Given the description of an element on the screen output the (x, y) to click on. 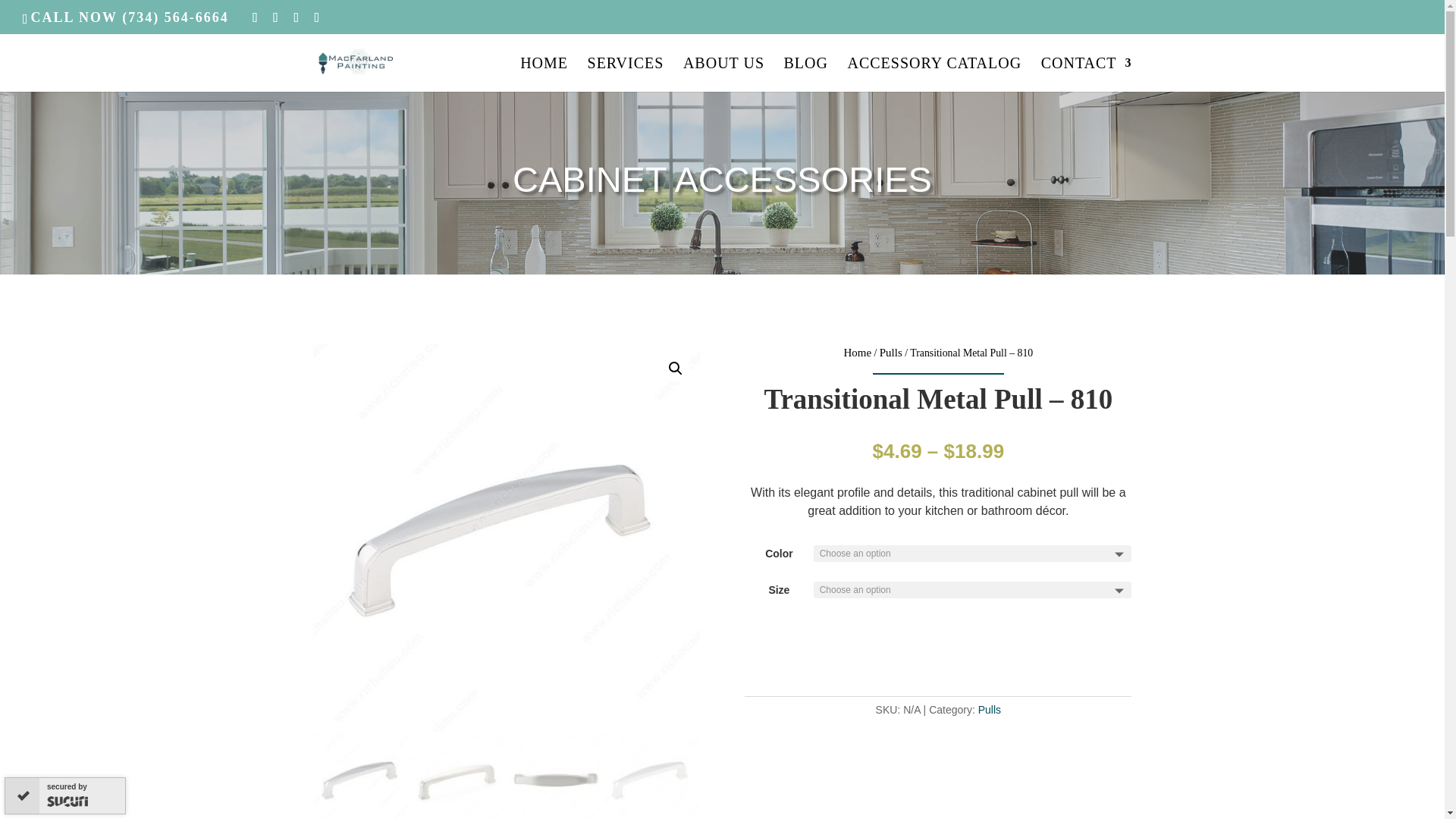
HOME (543, 74)
BLOG (806, 74)
ABOUT US (723, 74)
ACCESSORY CATALOG (934, 74)
SERVICES (625, 74)
CONTACT (1086, 74)
